Given the description of an element on the screen output the (x, y) to click on. 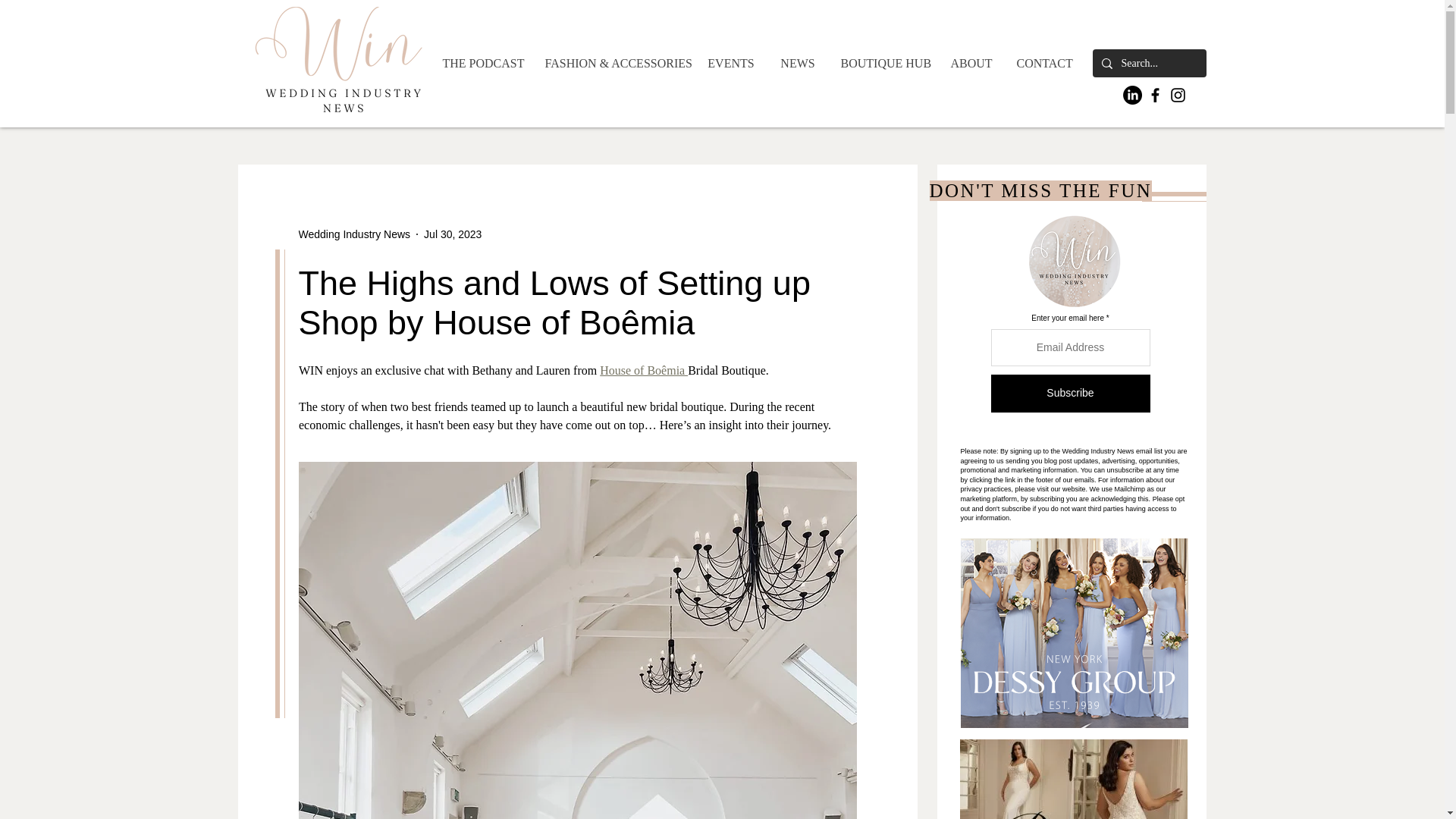
BOUTIQUE HUB (882, 63)
EVENTS (729, 63)
Wedding Industry News (354, 233)
Wedding Industry News (354, 233)
Jul 30, 2023 (452, 233)
CONTACT (1043, 63)
Subscribe (1070, 393)
ABOUT (970, 63)
NEWS (796, 63)
THE PODCAST (481, 63)
